Given the description of an element on the screen output the (x, y) to click on. 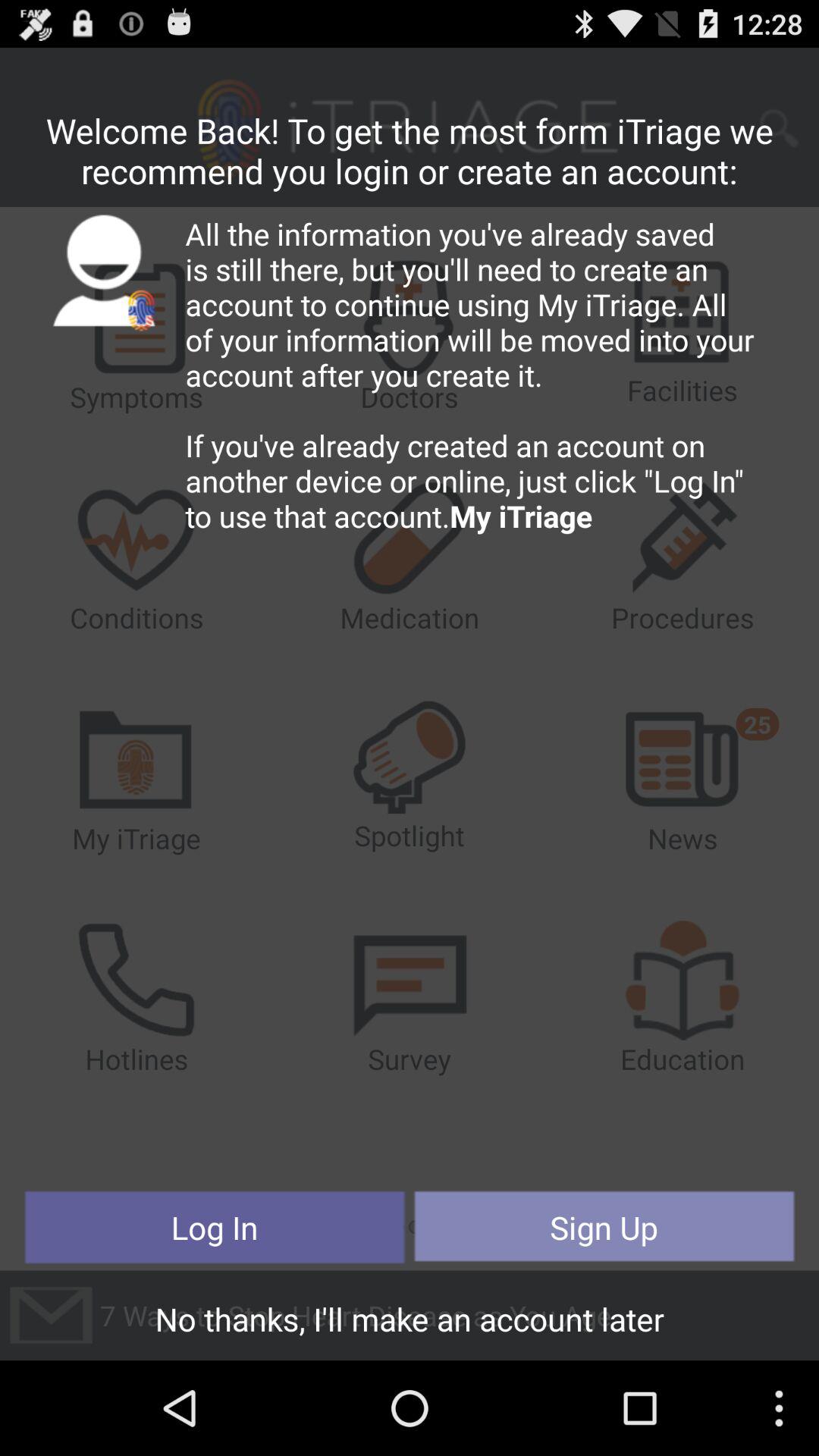
turn off the icon below the all the information (604, 1227)
